Given the description of an element on the screen output the (x, y) to click on. 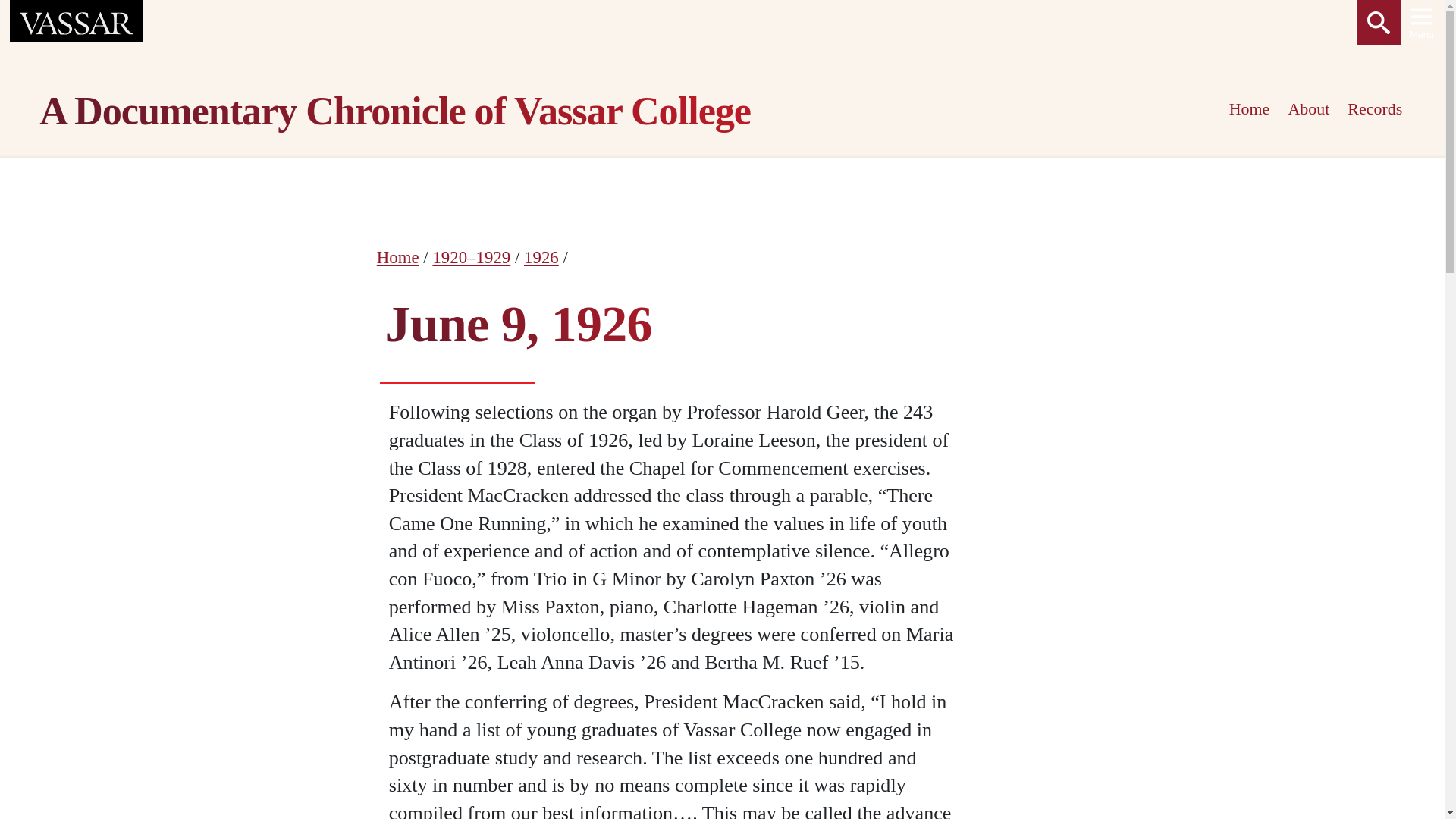
A Documentary Chronicle of Vassar College (593, 114)
1926 (541, 257)
Home (398, 257)
Vassar (76, 23)
Vassar (76, 23)
